Given the description of an element on the screen output the (x, y) to click on. 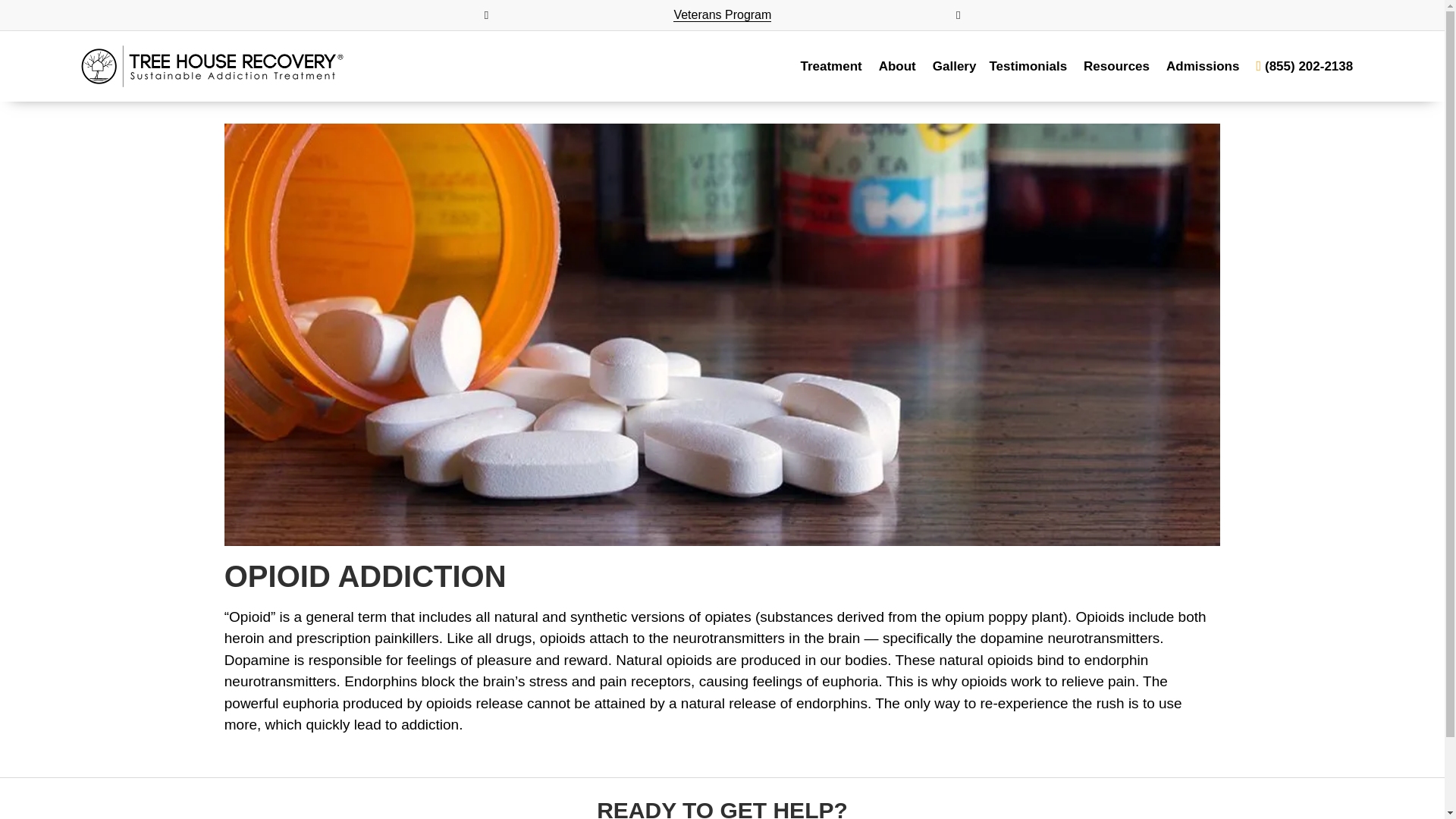
About (897, 66)
Testimonials (1027, 66)
Treatment (830, 66)
Veterans Program (721, 15)
Gallery (954, 66)
